Given the description of an element on the screen output the (x, y) to click on. 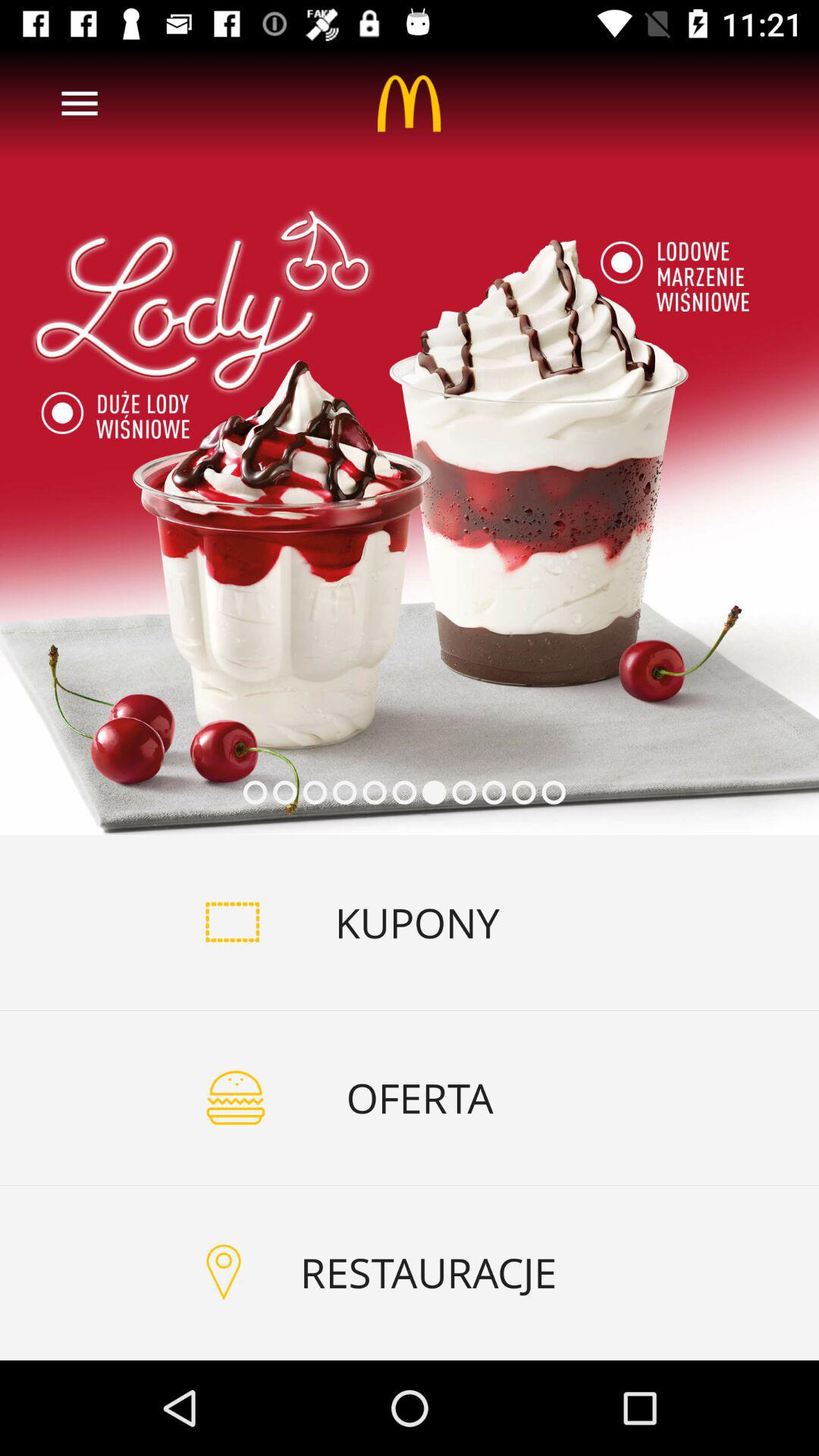
select the item above kupony item (409, 440)
